Given the description of an element on the screen output the (x, y) to click on. 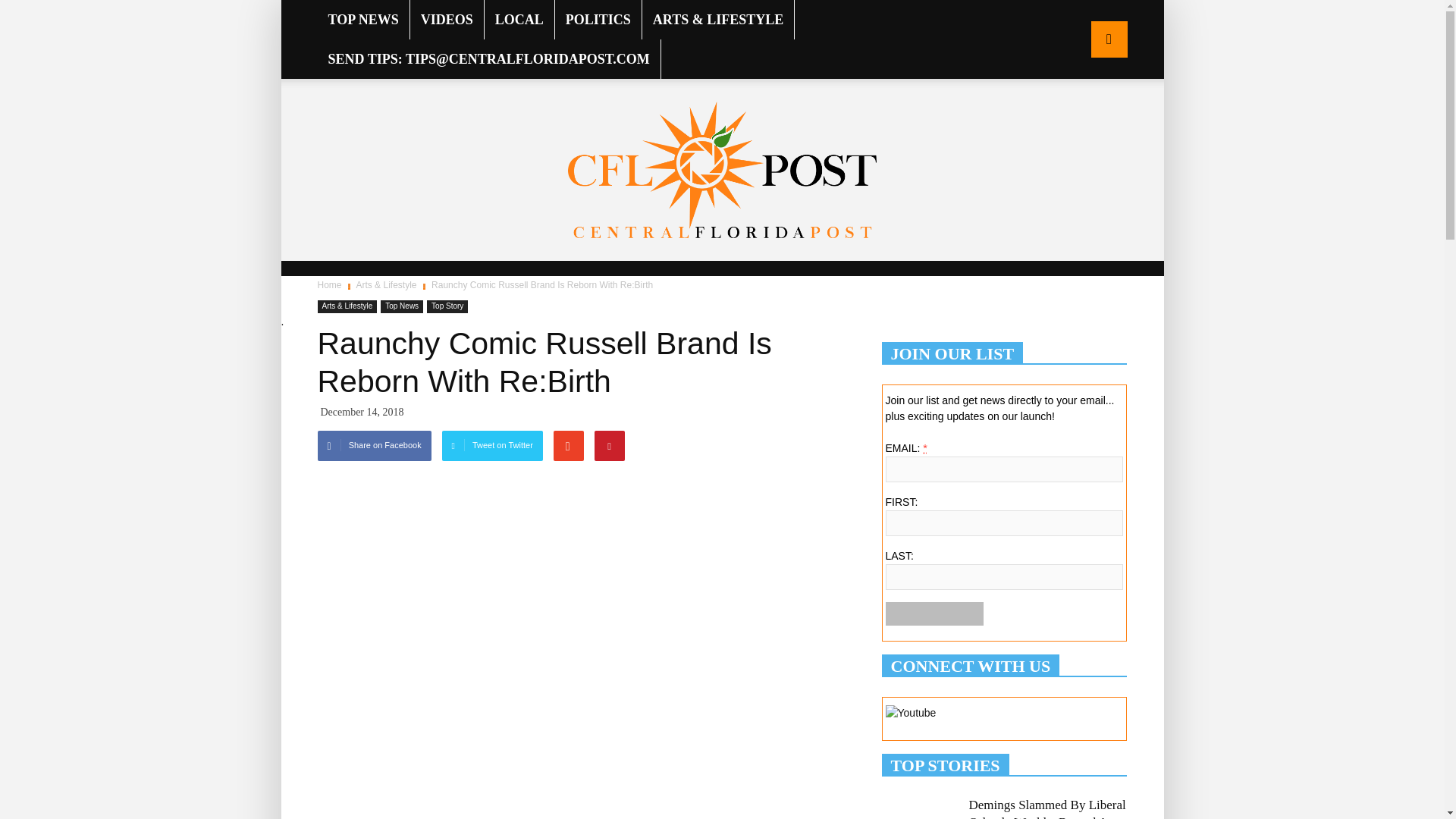
VIDEOS (446, 19)
Top Story (446, 306)
Top News (401, 306)
Tweet on Twitter (492, 445)
TOP NEWS (363, 19)
Share on Facebook (373, 445)
POLITICS (598, 19)
Yes! Sign Me Up! (934, 613)
cfl-post (721, 169)
LOCAL (519, 19)
Home (330, 285)
